Given the description of an element on the screen output the (x, y) to click on. 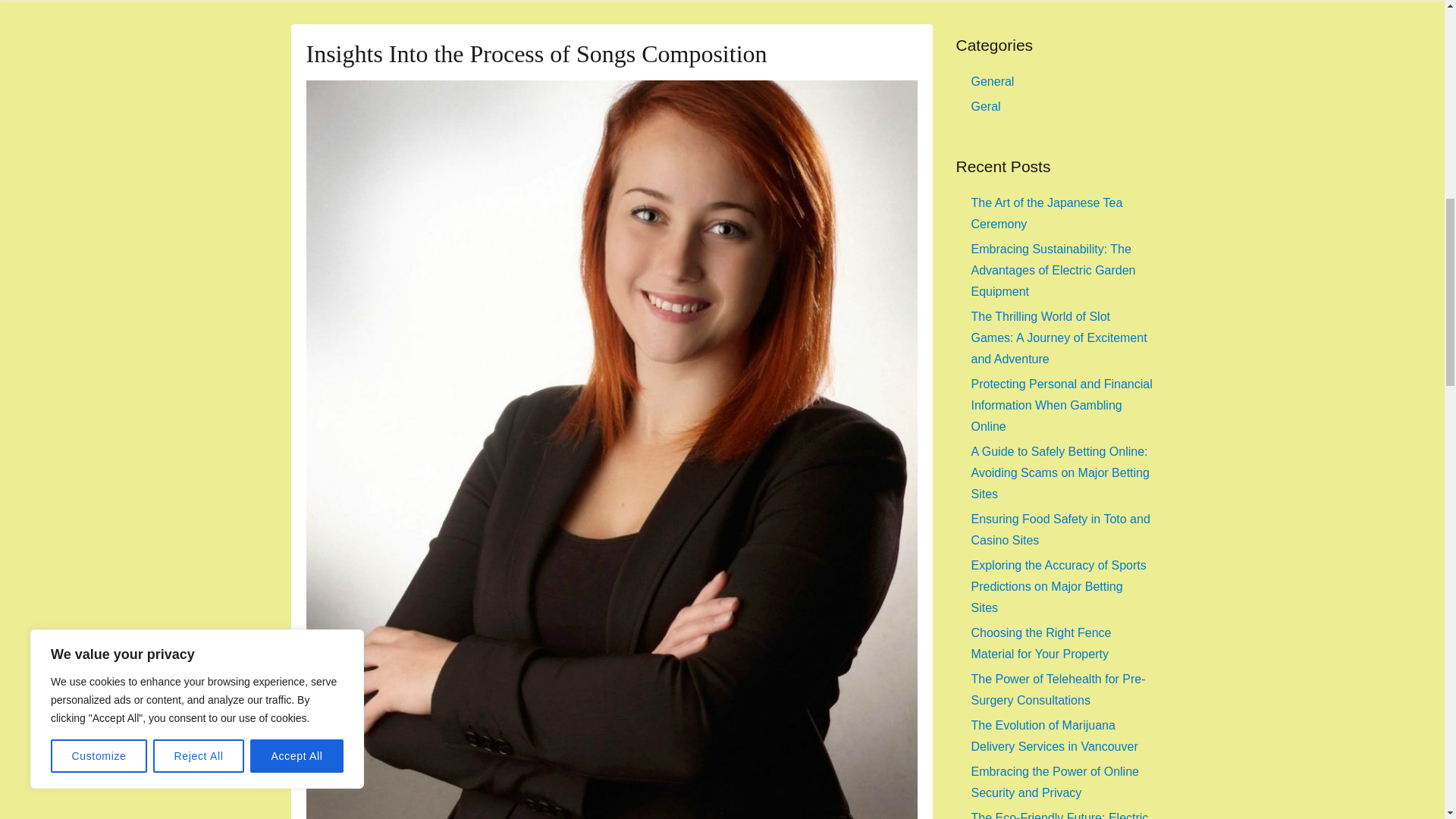
The Art of the Japanese Tea Ceremony (1046, 213)
General (992, 81)
Geral (985, 106)
